Given the description of an element on the screen output the (x, y) to click on. 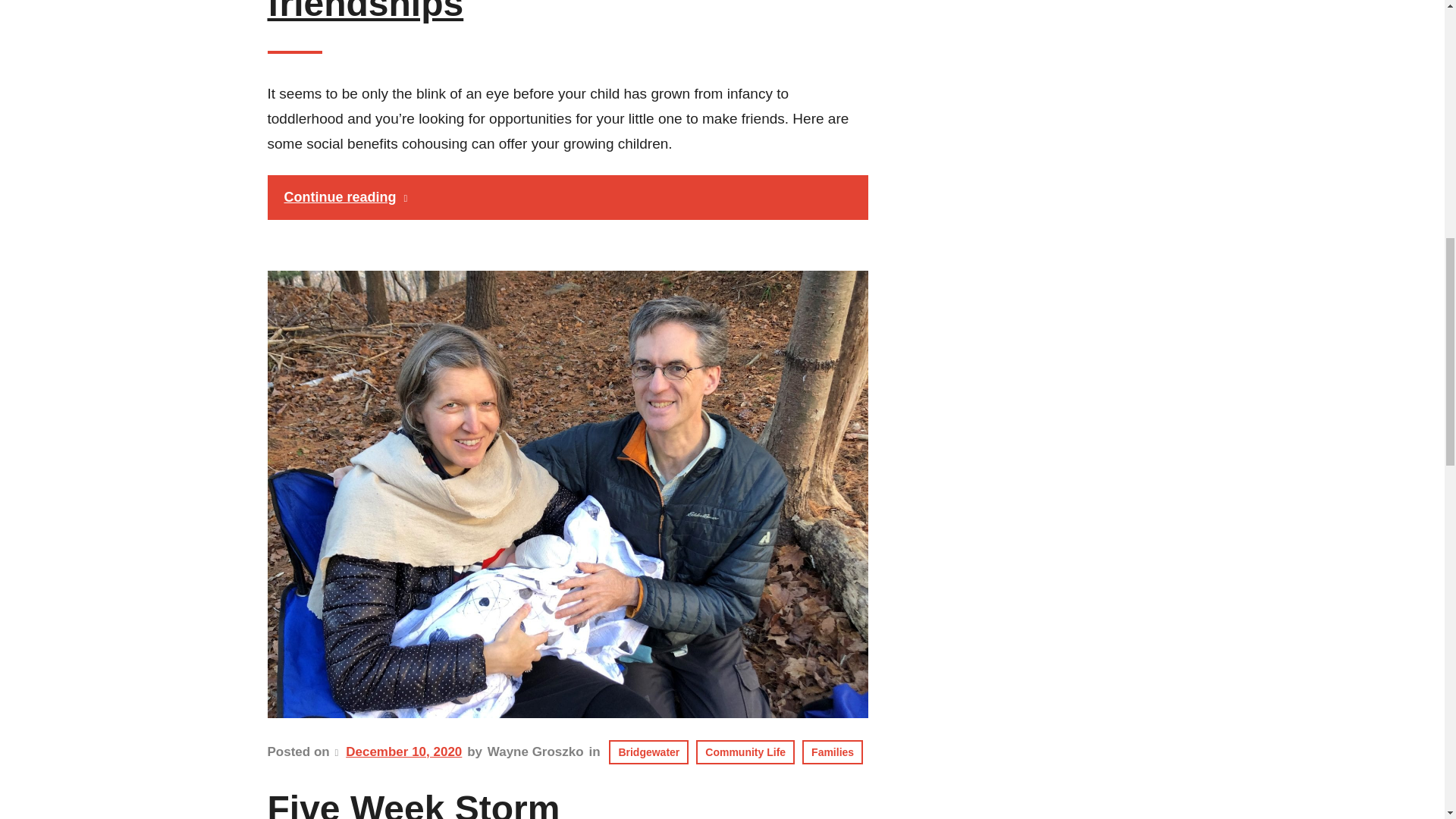
Community Life (744, 752)
Families (832, 752)
Five Week Storm (412, 802)
Bridgewater (648, 752)
Continue reading (566, 197)
December 10, 2020 (403, 751)
